Given the description of an element on the screen output the (x, y) to click on. 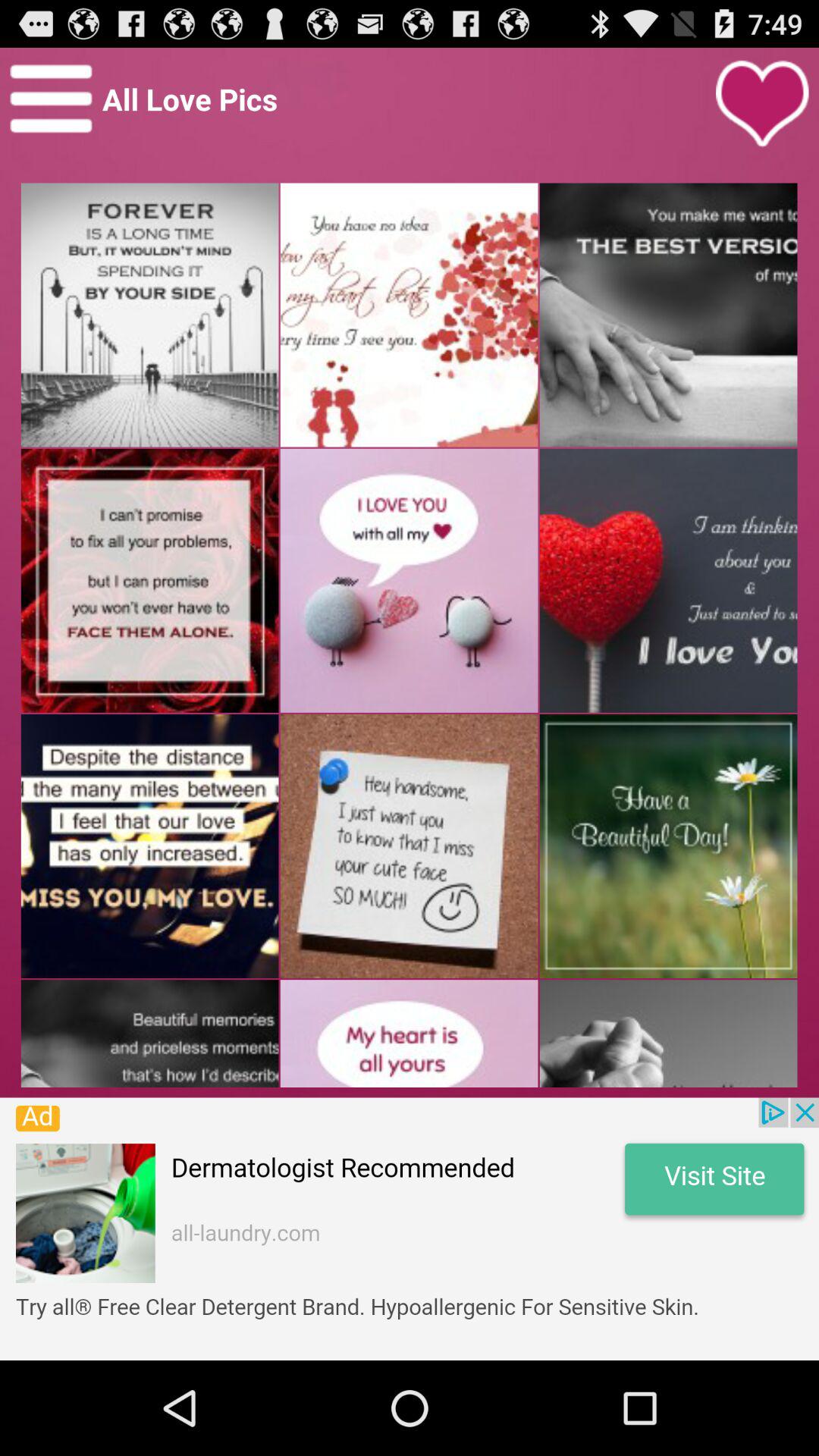
advertisement (409, 1228)
